Given the description of an element on the screen output the (x, y) to click on. 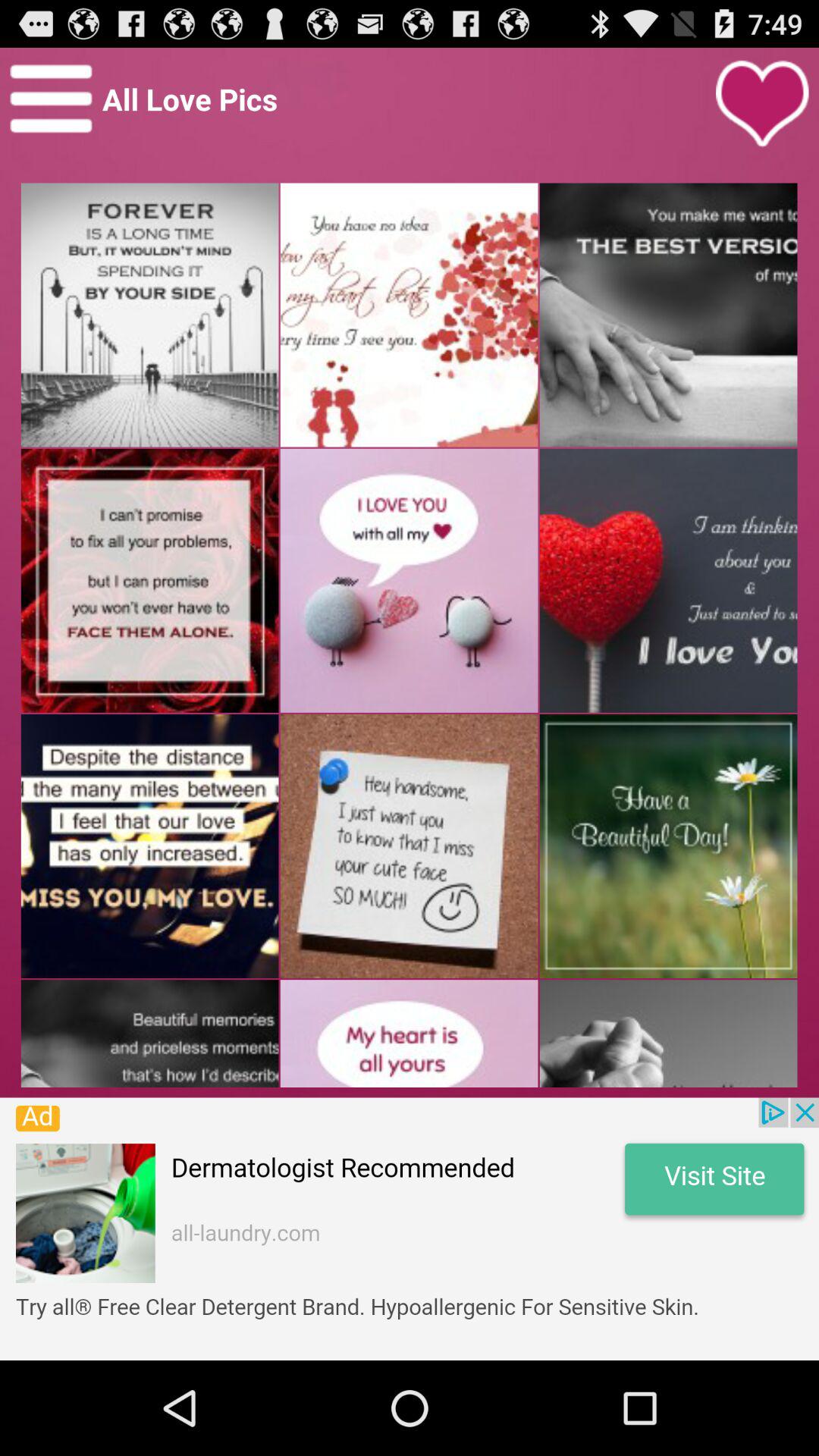
advertisement (409, 1228)
